Given the description of an element on the screen output the (x, y) to click on. 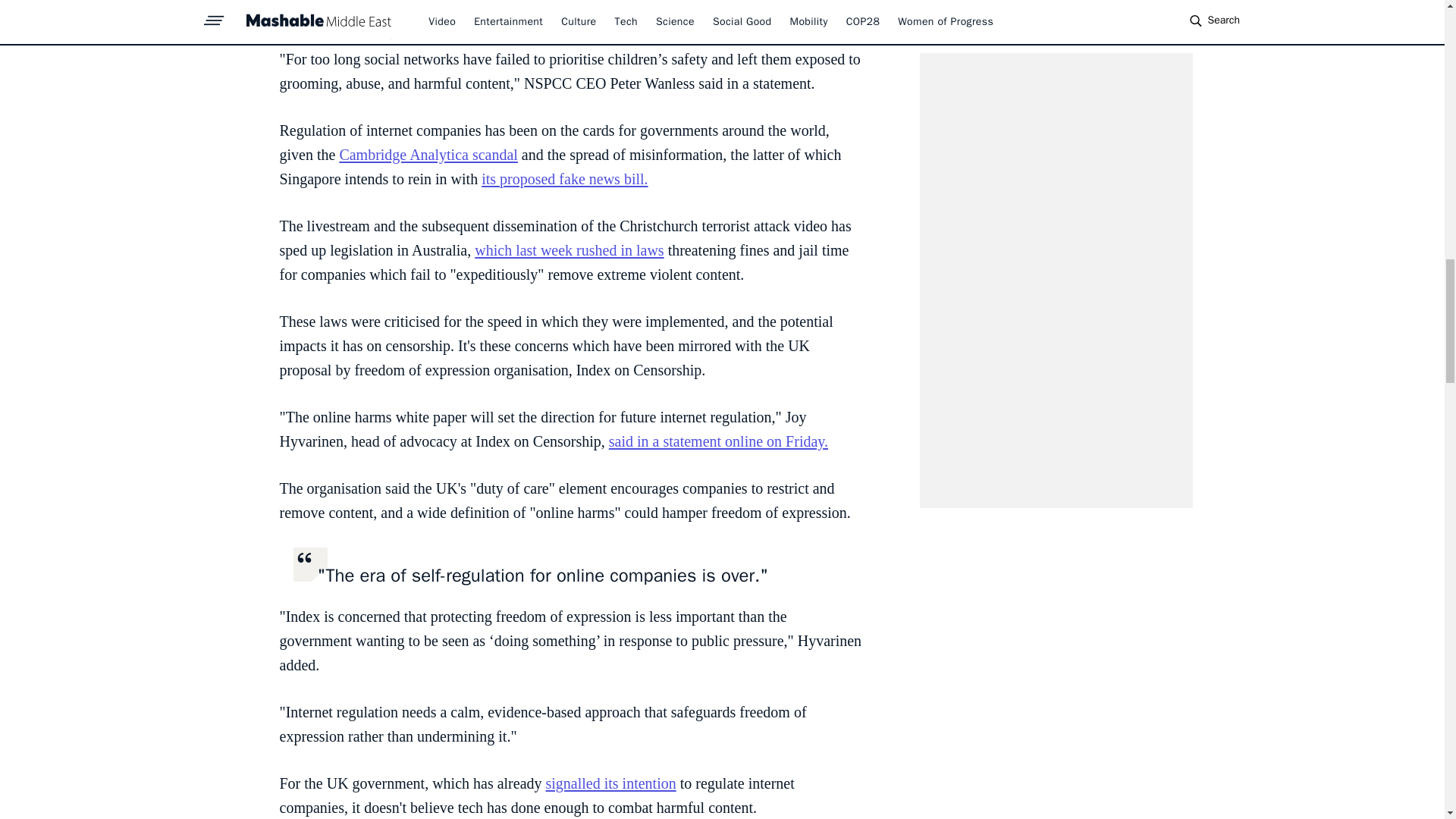
its proposed fake news bill. (564, 178)
said in a statement online on Friday. (718, 441)
signalled its intention (611, 782)
which last week rushed in laws (568, 249)
Cambridge Analytica scandal (427, 154)
